Given the description of an element on the screen output the (x, y) to click on. 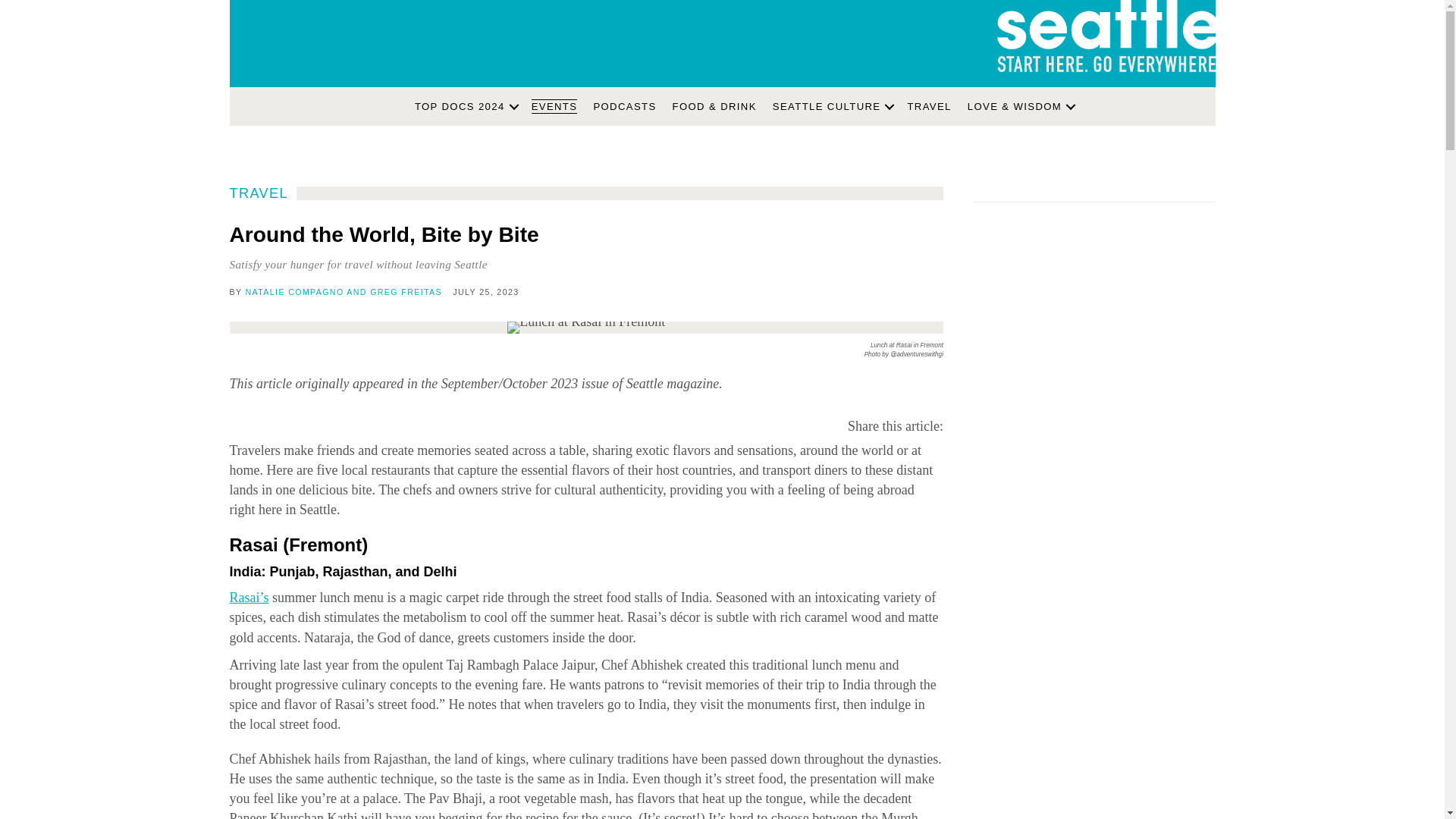
SBM (360, 102)
DSC02150-cropped (585, 327)
PODCASTS (624, 106)
TRAVEL (928, 106)
seattle-with-tagline-min (1104, 36)
Seattle, WA, USA (333, 37)
TOP DOCS 2024 (464, 106)
SEATTLE CULTURE (832, 106)
EVENTS (554, 106)
